Given the description of an element on the screen output the (x, y) to click on. 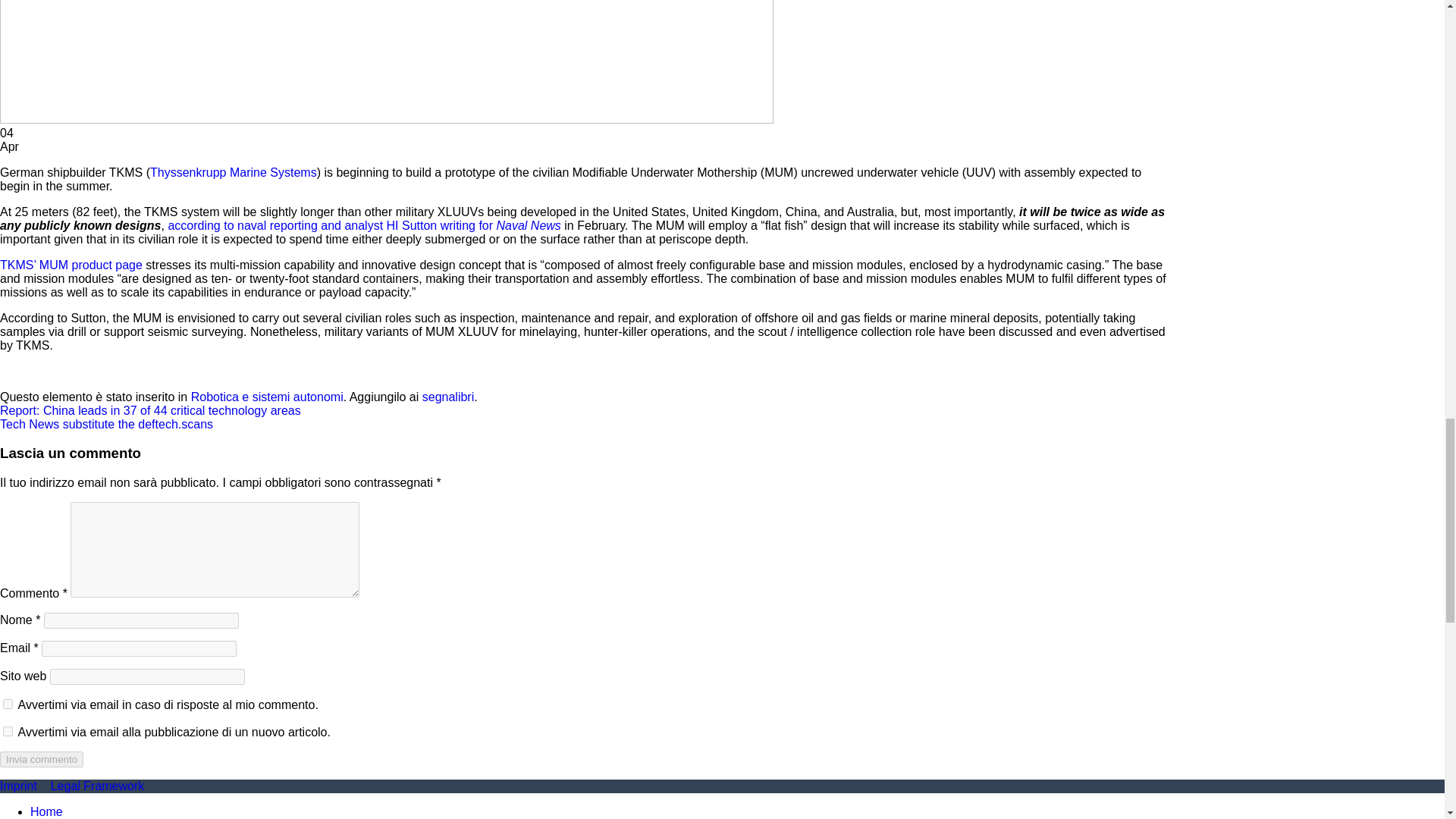
subscribe (7, 731)
Invia commento (41, 759)
subscribe (7, 704)
